Given the description of an element on the screen output the (x, y) to click on. 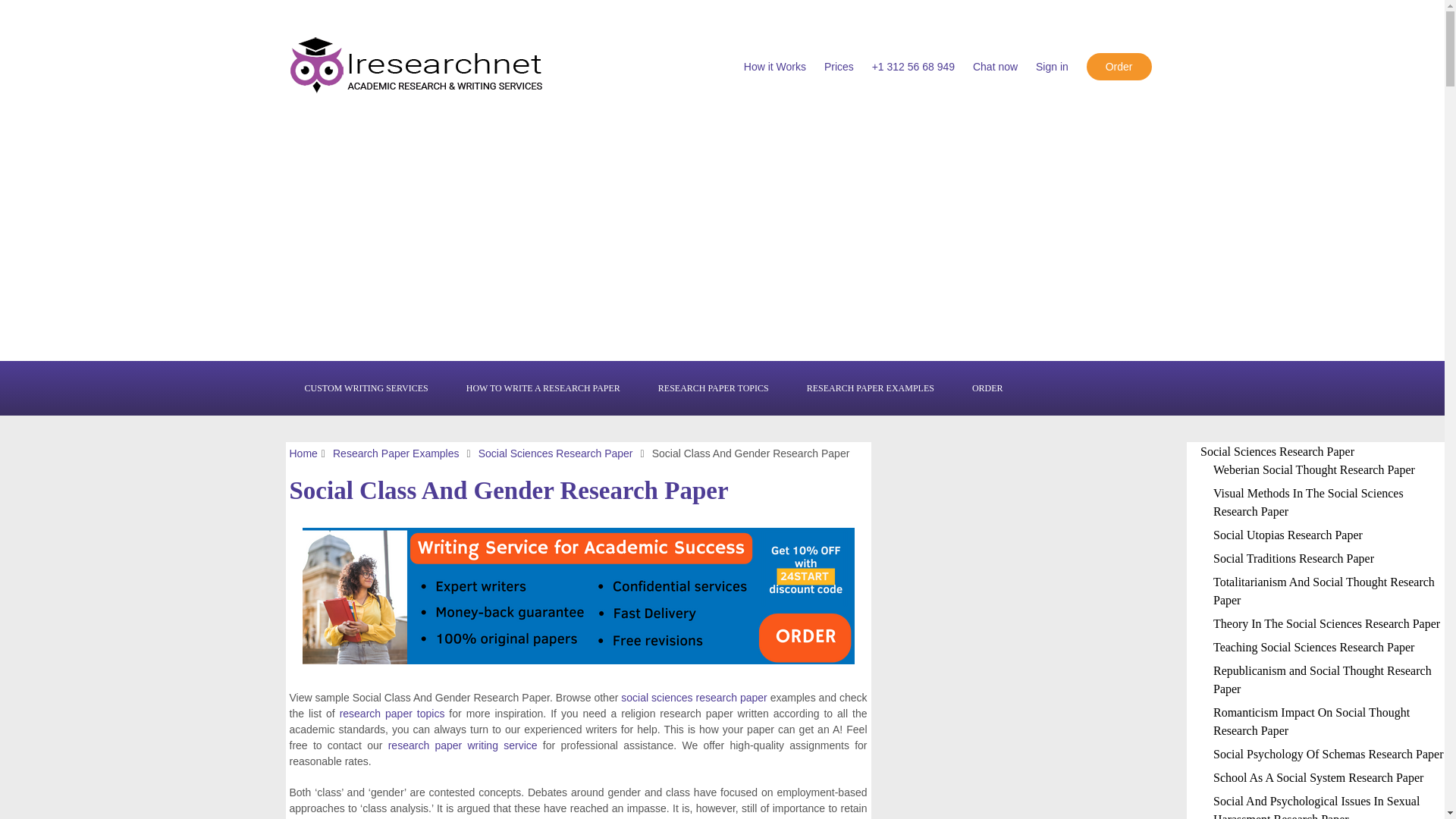
Theory In The Social Sciences Research Paper (1325, 623)
Social Traditions Research Paper (1293, 558)
Totalitarianism And Social Thought Research Paper (1323, 590)
Social Utopias Research Paper (1287, 534)
Home (303, 453)
Social Sciences Research Paper (556, 453)
Social Utopias Research Paper (1287, 534)
Totalitarianism And Social Thought Research Paper (1323, 590)
Chat now (994, 66)
